Given the description of an element on the screen output the (x, y) to click on. 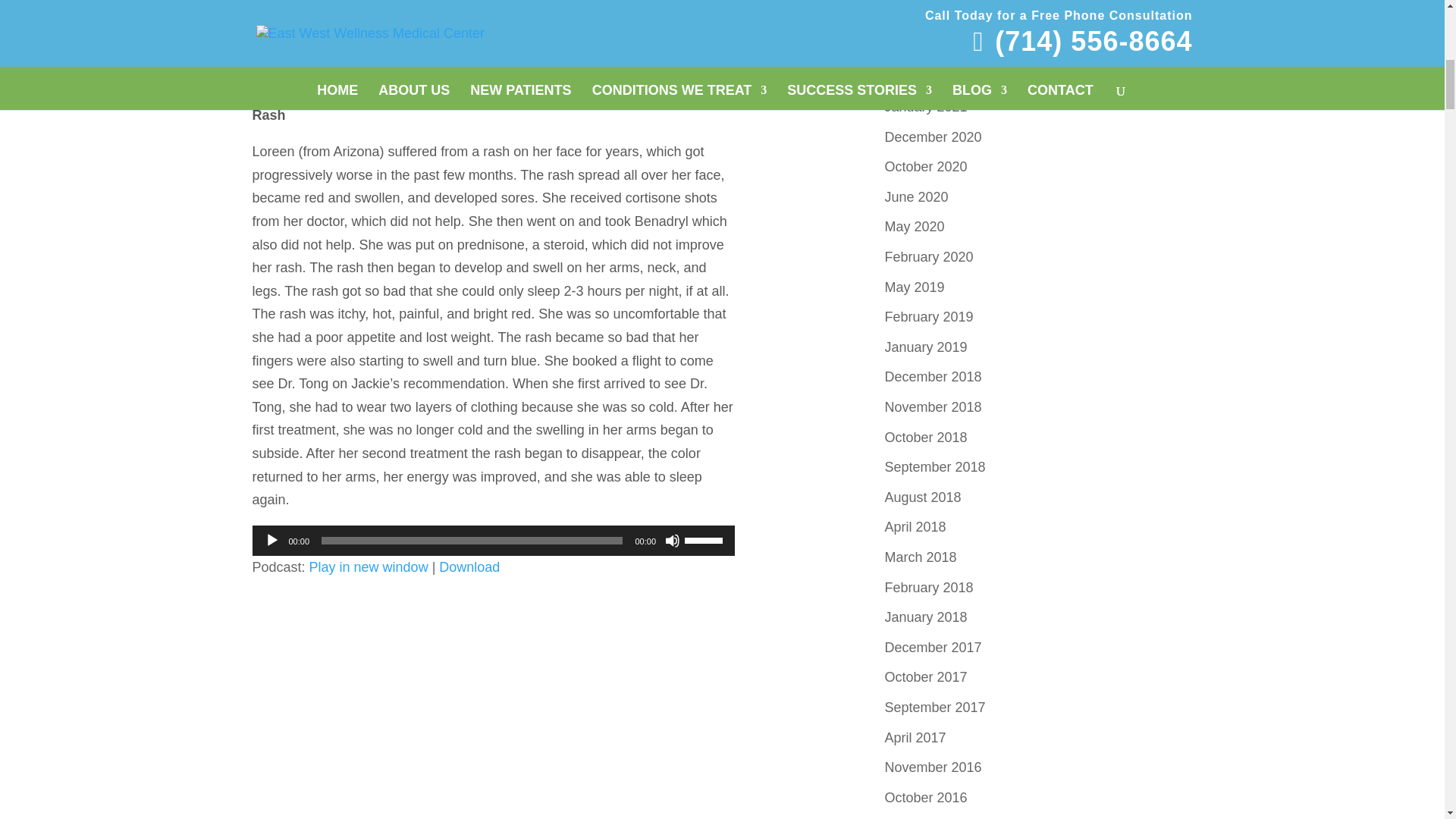
Play in new window (368, 566)
Mute (672, 540)
Download (469, 566)
Play (271, 540)
